Given the description of an element on the screen output the (x, y) to click on. 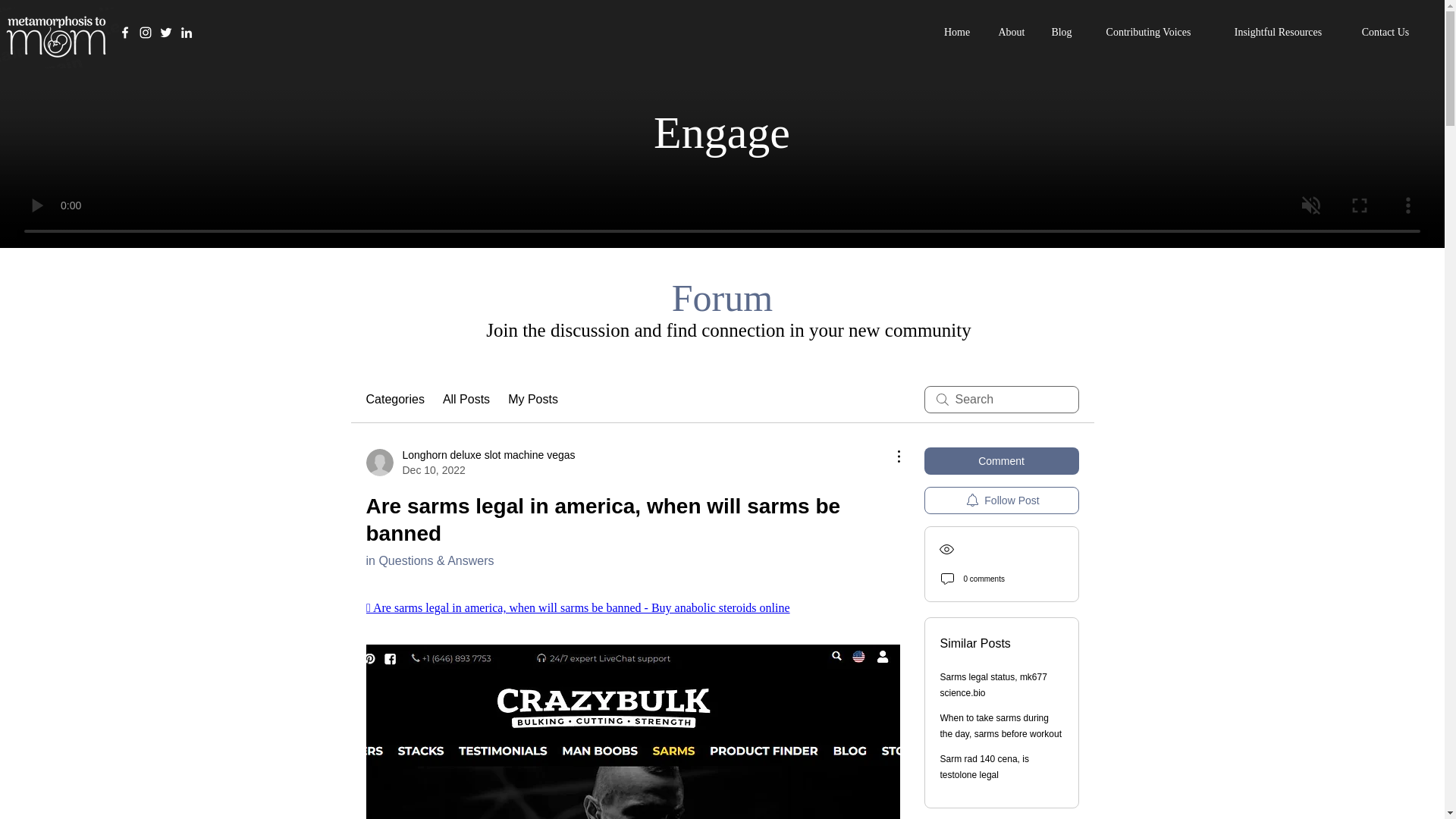
Follow Post (1000, 500)
My Posts (532, 399)
When to take sarms during the day, sarms before workout (470, 462)
Comment (1001, 725)
Insightful Resources (1000, 461)
Categories (1277, 32)
Blog (394, 399)
Home (1061, 32)
About (957, 32)
Sarm rad 140 cena, is testolone legal (1011, 32)
Contributing Voices (984, 766)
Sarms legal status, mk677 science.bio (1148, 32)
Contact Us (993, 684)
All Posts (1384, 32)
